Given the description of an element on the screen output the (x, y) to click on. 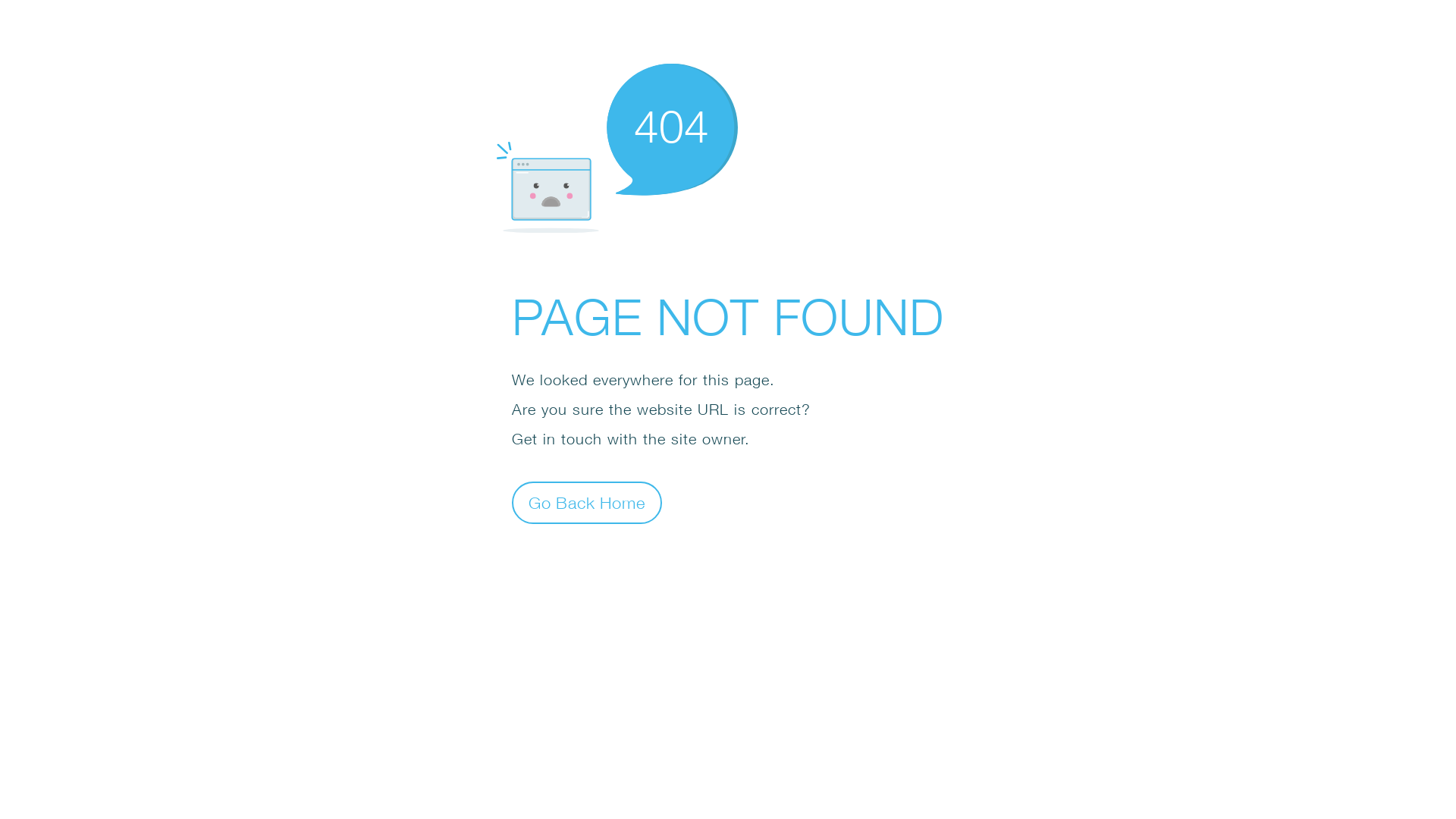
Go Back Home Element type: text (586, 502)
